Given the description of an element on the screen output the (x, y) to click on. 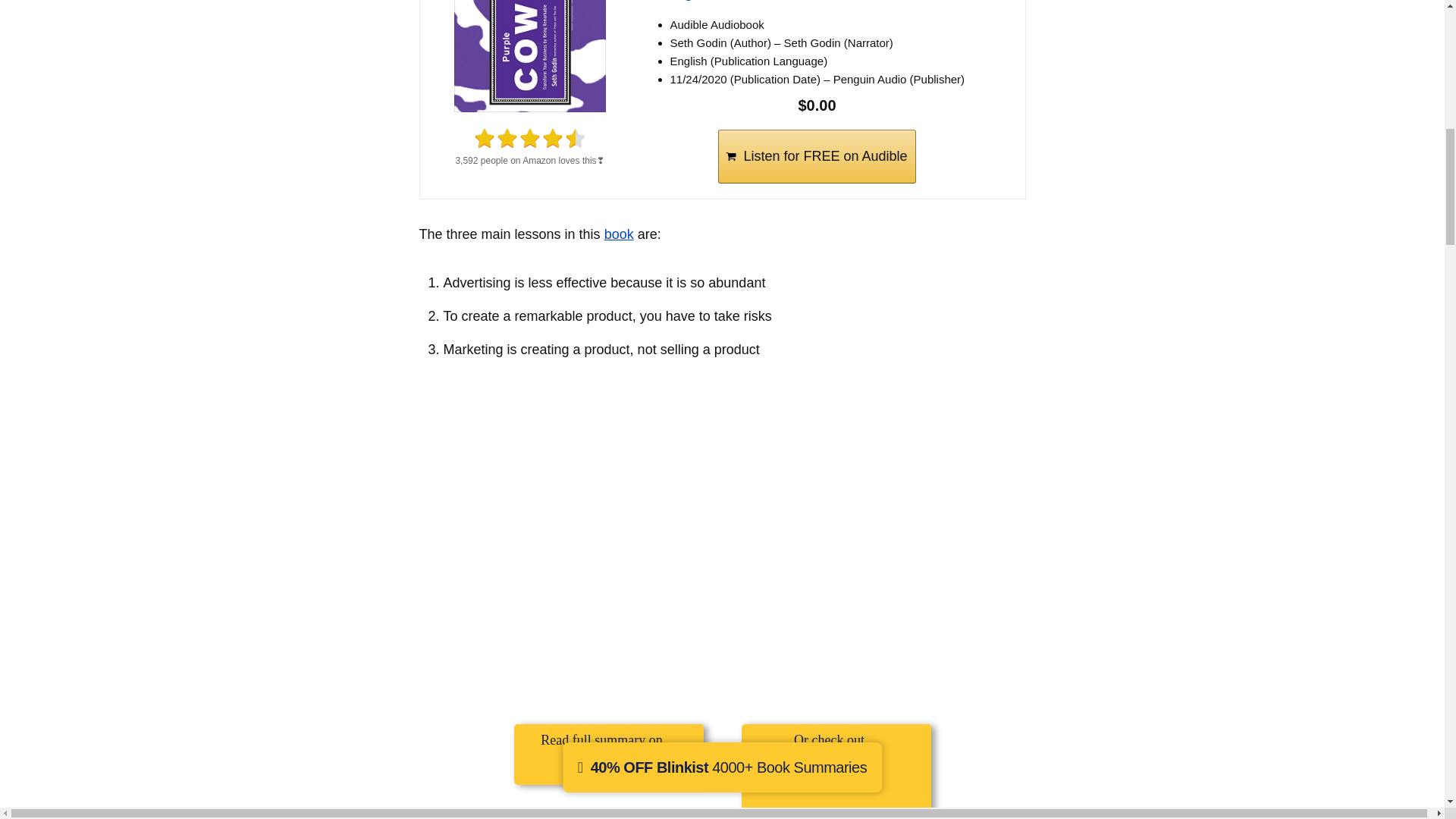
Listen for FREE on Audible (816, 156)
Hey (832, 2)
book (618, 233)
Listen for FREE on Audible (816, 156)
Reviews on Amazon (529, 138)
